Given the description of an element on the screen output the (x, y) to click on. 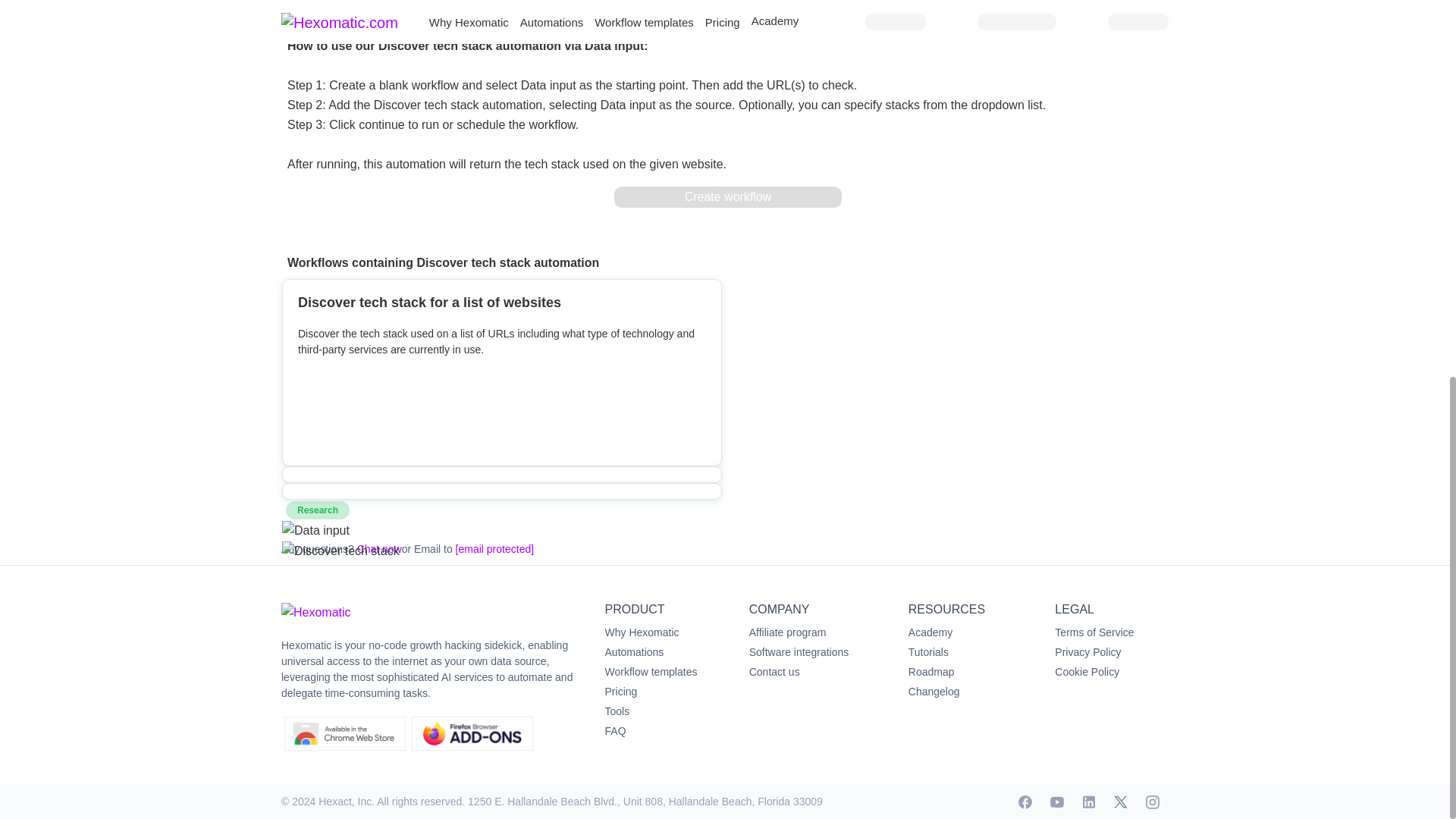
Affiliate program (788, 632)
Pricing (621, 691)
Workflow templates (651, 671)
Data input (502, 530)
Tools (617, 711)
Automations (634, 652)
Discover tech stack (502, 550)
Chat now (378, 548)
Software integrations (798, 652)
